Given the description of an element on the screen output the (x, y) to click on. 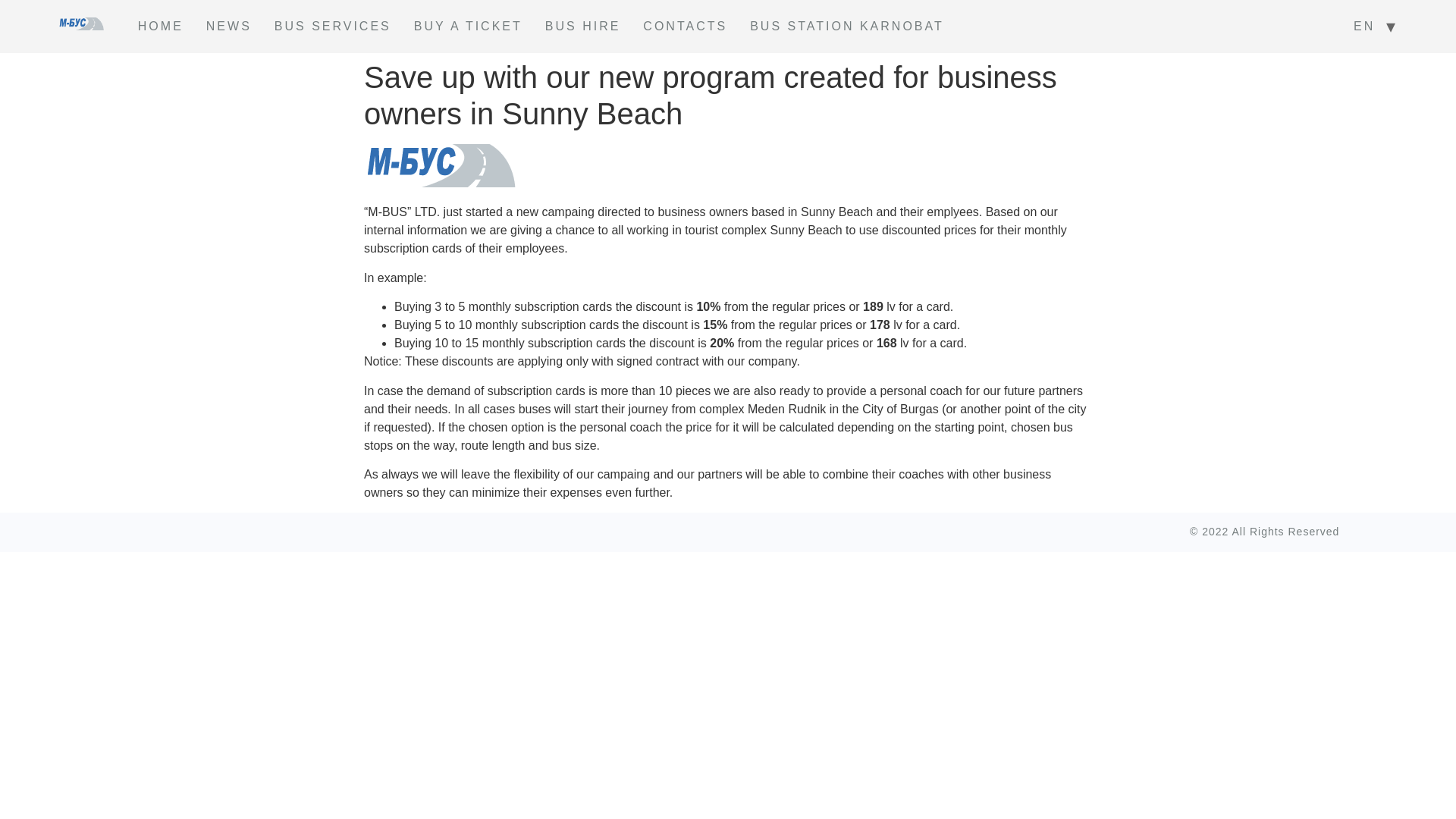
BUS HIRE (582, 26)
BUS SERVICES (333, 26)
NEWS (229, 26)
HOME (160, 26)
BUY A TICKET (468, 26)
EN (1364, 26)
BUS STATION KARNOBAT (846, 26)
CONTACTS (684, 26)
